Given the description of an element on the screen output the (x, y) to click on. 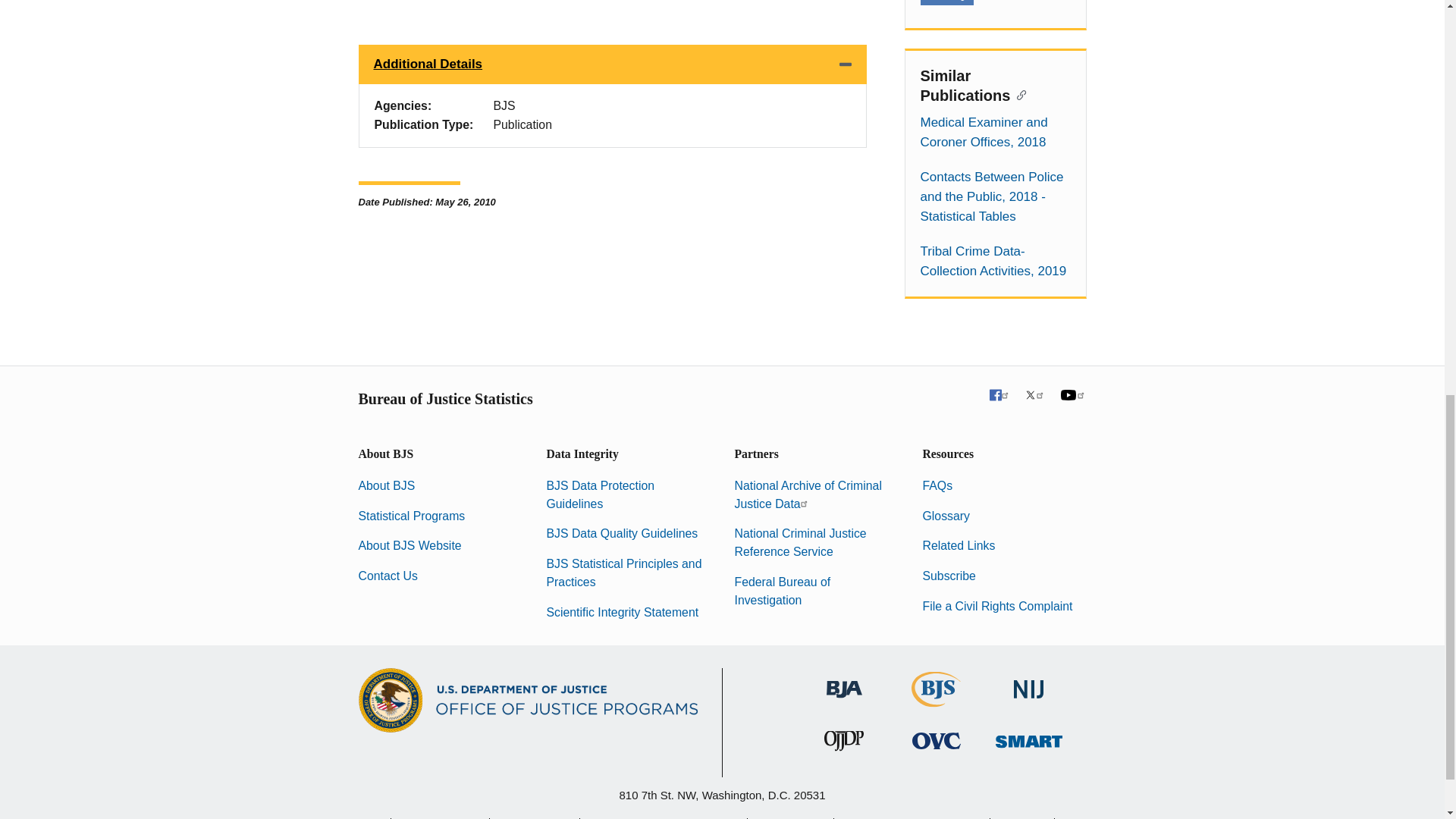
Additional Details (612, 64)
Tribal Crime Data-Collection Activities, 2019 (995, 261)
Copy link to section: Similar Publications (1018, 93)
Medical Examiner and Coroner Offices, 2018 (995, 132)
